Given the description of an element on the screen output the (x, y) to click on. 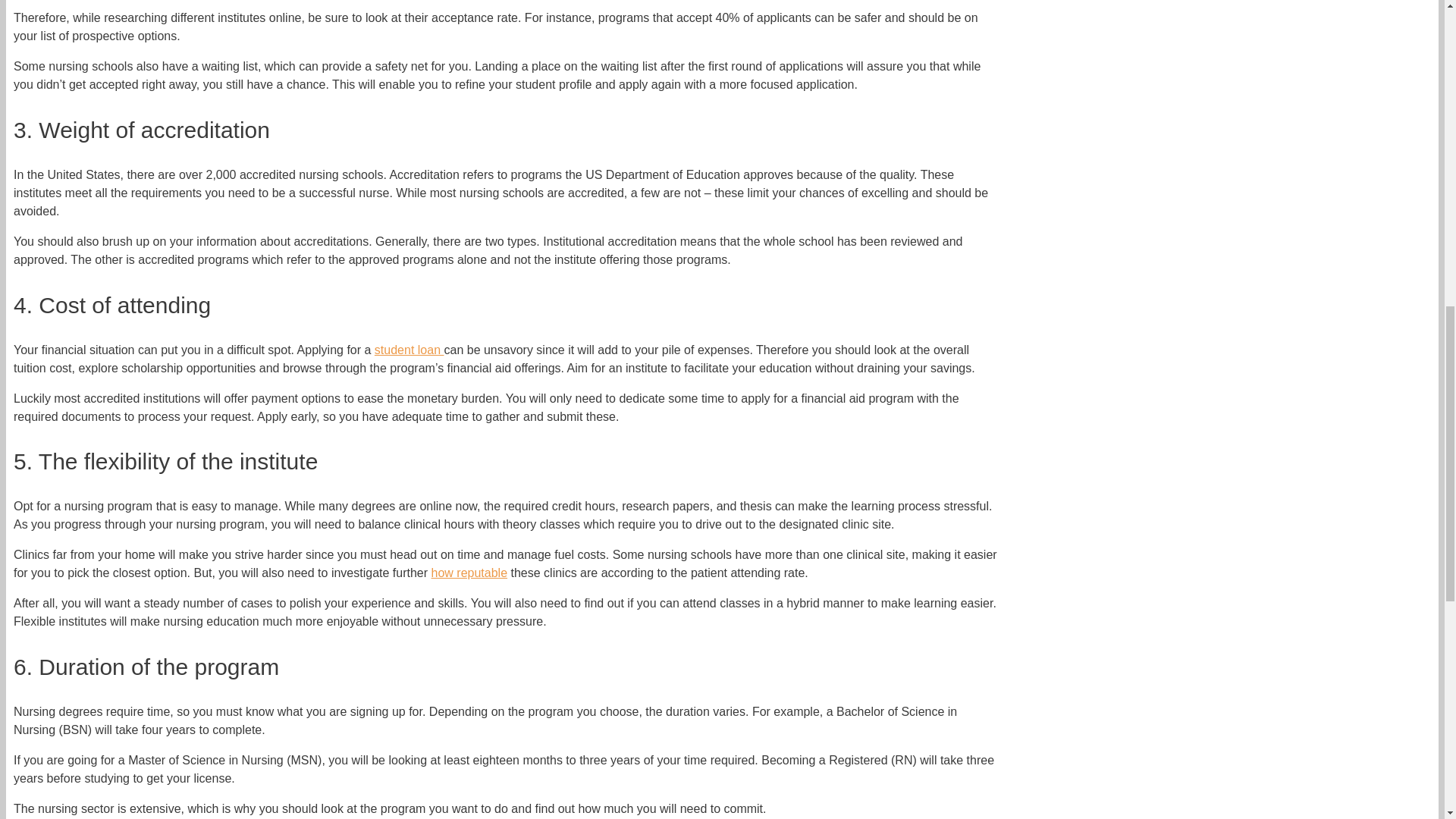
how reputable (469, 572)
student loan (409, 349)
